Given the description of an element on the screen output the (x, y) to click on. 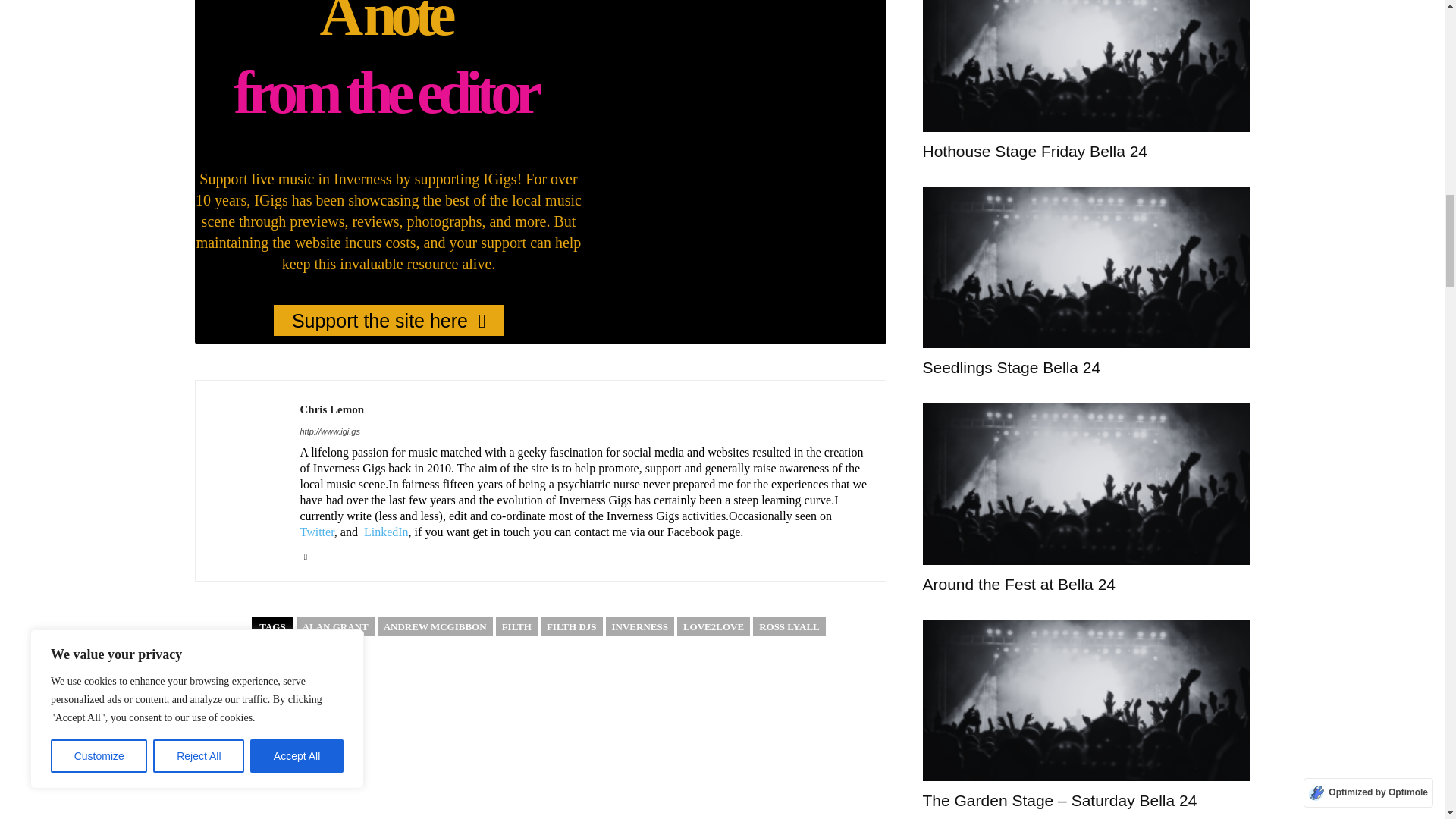
Support the site here (388, 319)
Hothouse Stage Friday Bella 24 (1034, 150)
Twitter (305, 553)
Hothouse Stage Friday Bella 24 (1085, 65)
